Given the description of an element on the screen output the (x, y) to click on. 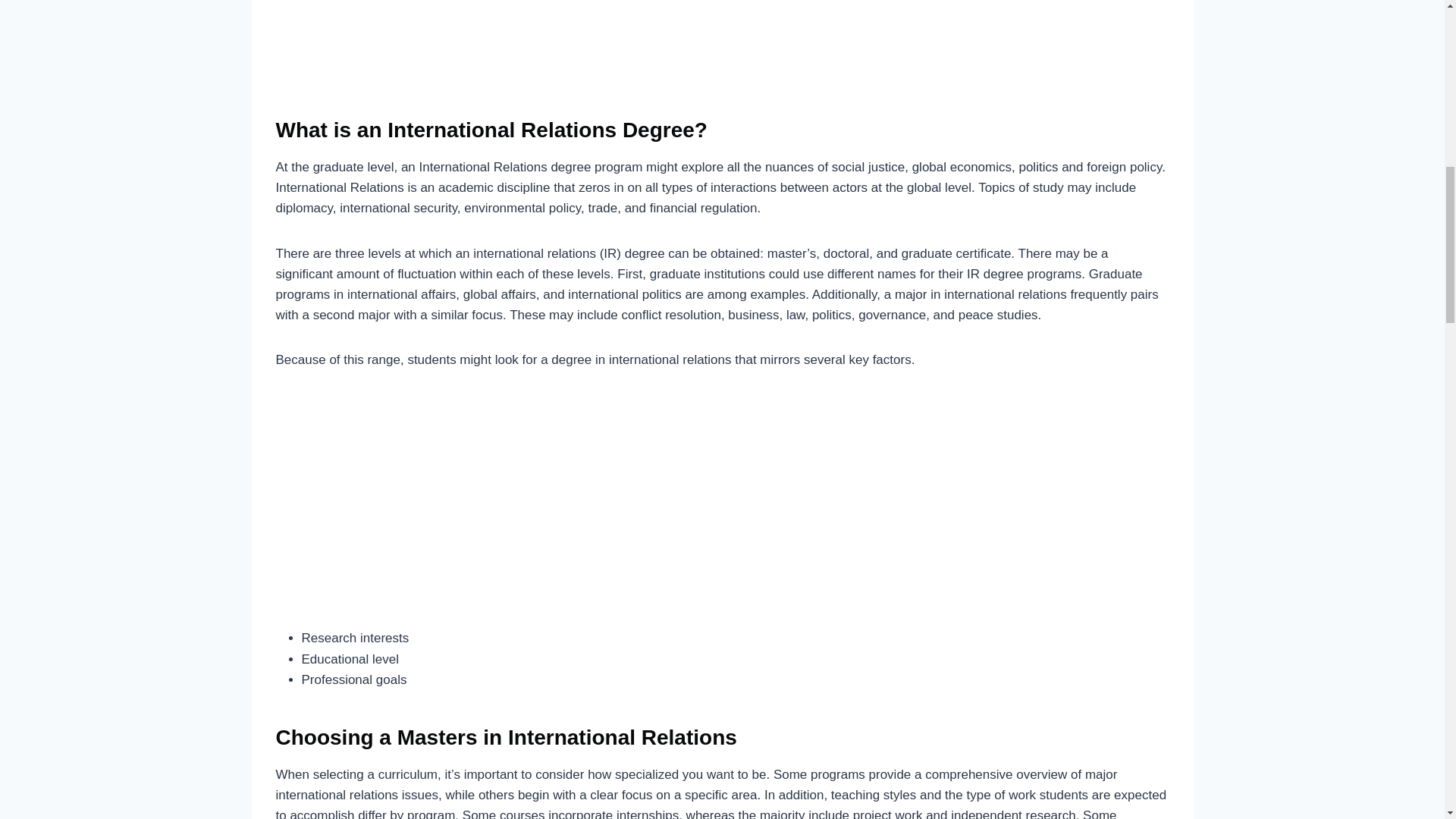
MSc International Relations (722, 41)
